Given the description of an element on the screen output the (x, y) to click on. 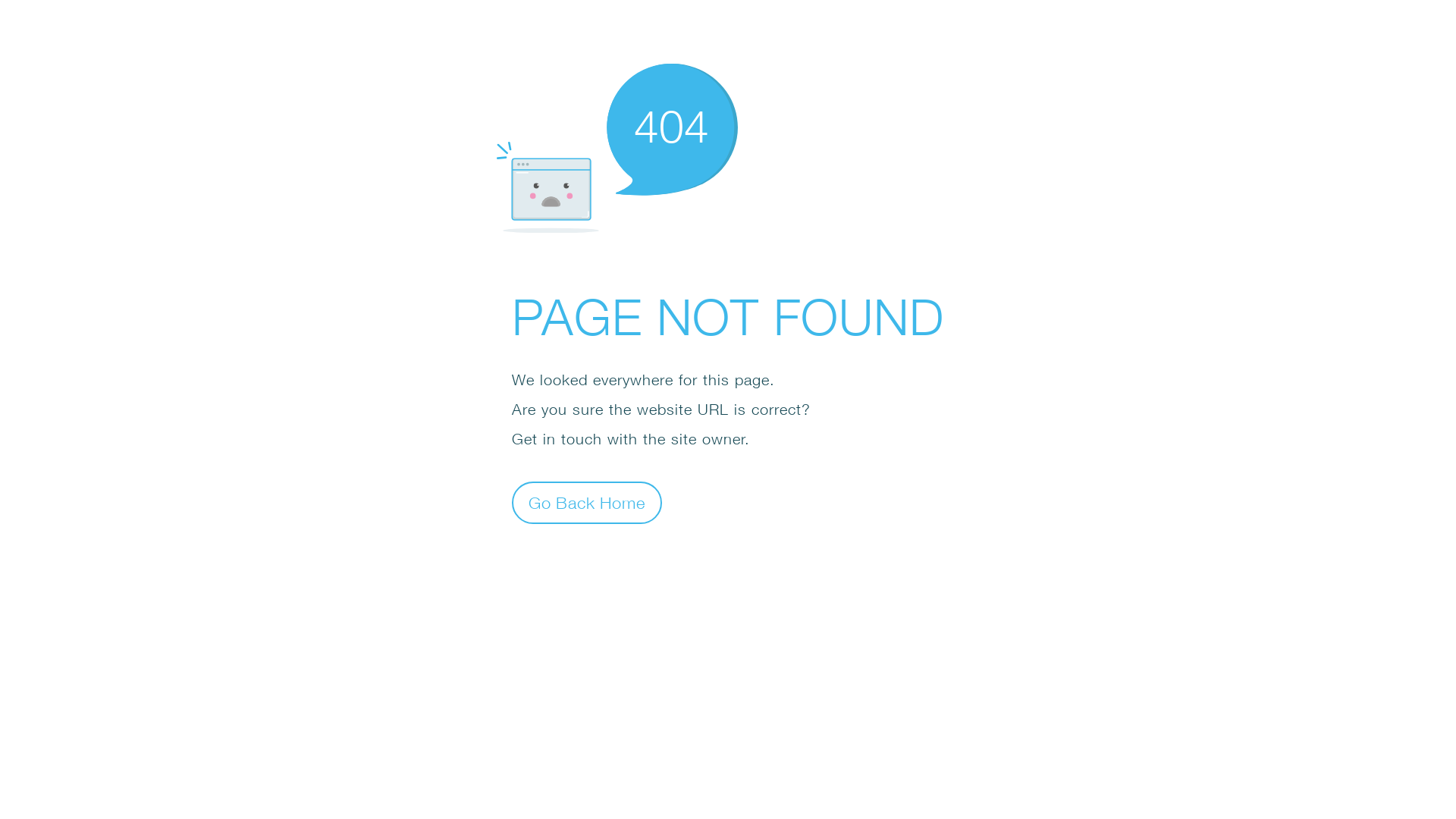
Go Back Home Element type: text (586, 502)
